Given the description of an element on the screen output the (x, y) to click on. 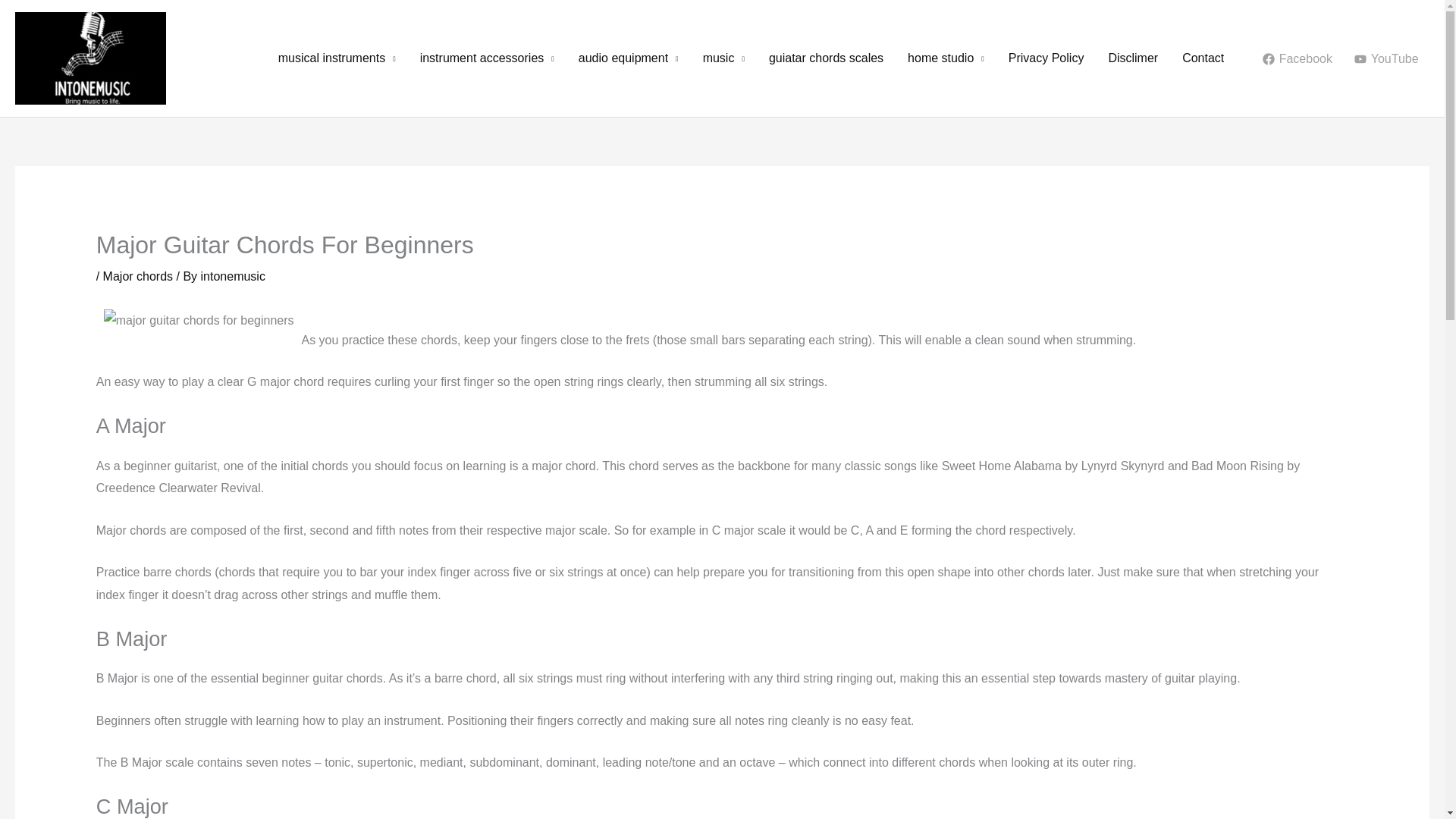
musical instruments (336, 58)
instrument accessories (486, 58)
audio equipment (628, 58)
View all posts by intonemusic (232, 276)
